Given the description of an element on the screen output the (x, y) to click on. 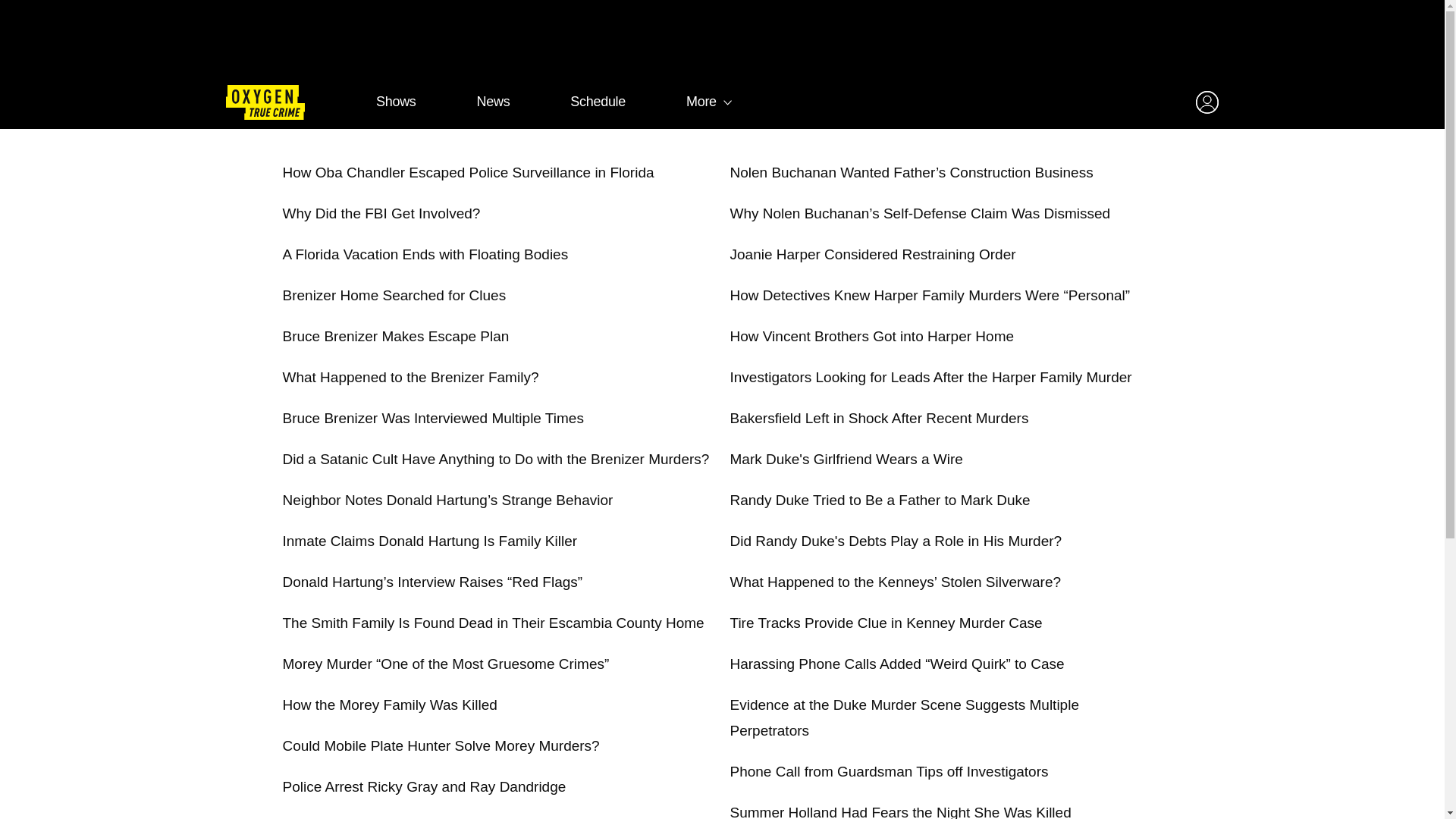
The Smith Family Is Found Dead in Their Escambia County Home (492, 622)
Police Arrest Ricky Gray and Ray Dandridge (424, 786)
Bruce Brenizer Makes Escape Plan (395, 335)
More (700, 101)
How Oba Chandler Escaped Police Surveillance in Florida (467, 172)
Why Did the FBI Get Involved? (381, 213)
Could Mobile Plate Hunter Solve Morey Murders? (440, 745)
Bruce Brenizer Was Interviewed Multiple Times (432, 417)
Brenizer Home Searched for Clues (393, 295)
Shows (395, 101)
Schedule (598, 101)
A Florida Vacation Ends with Floating Bodies (424, 254)
What Happened to the Brenizer Family? (410, 376)
How the Morey Family Was Killed (389, 704)
